Given the description of an element on the screen output the (x, y) to click on. 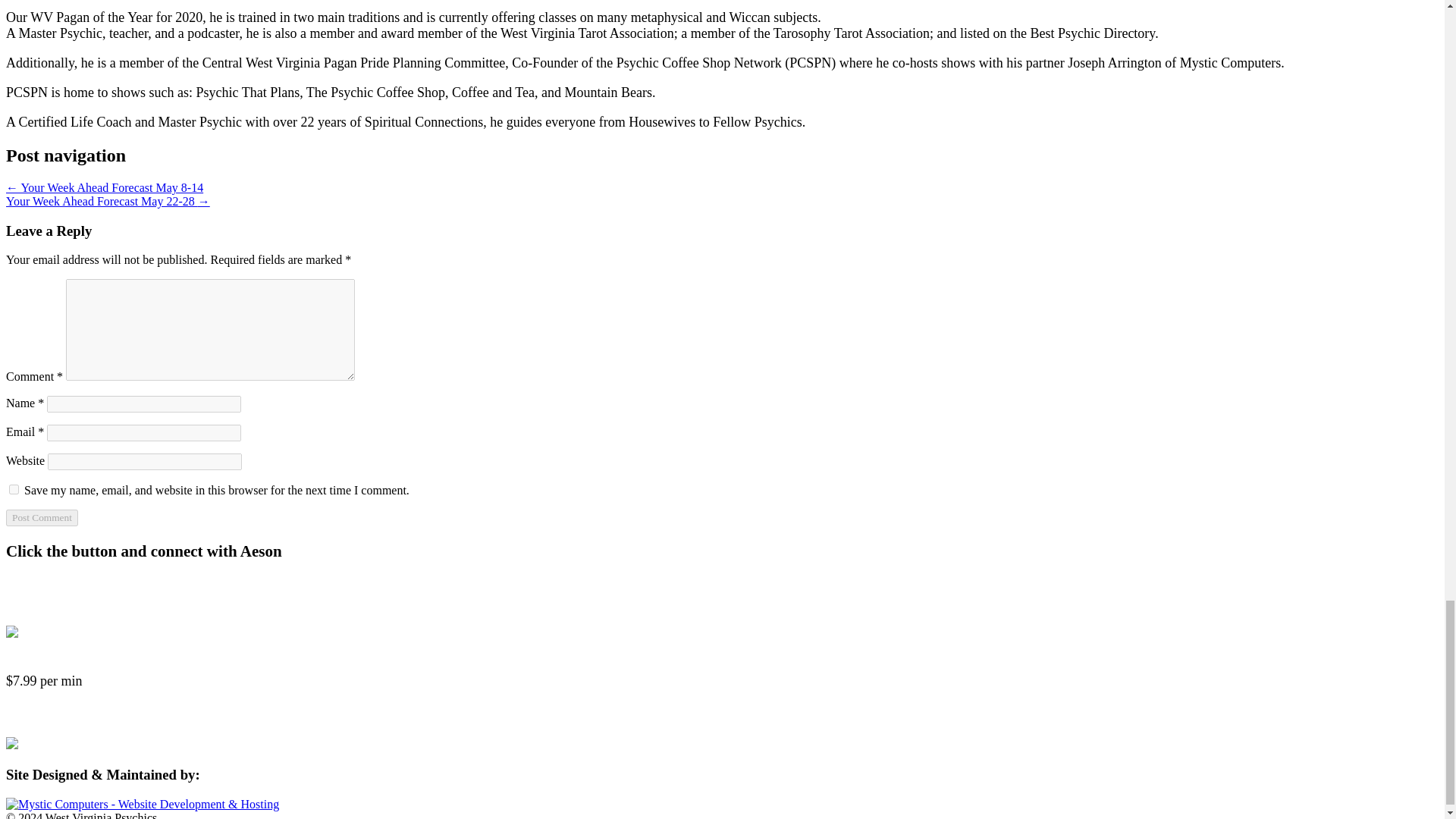
Post Comment (41, 517)
Post Comment (41, 517)
yes (13, 489)
